Given the description of an element on the screen output the (x, y) to click on. 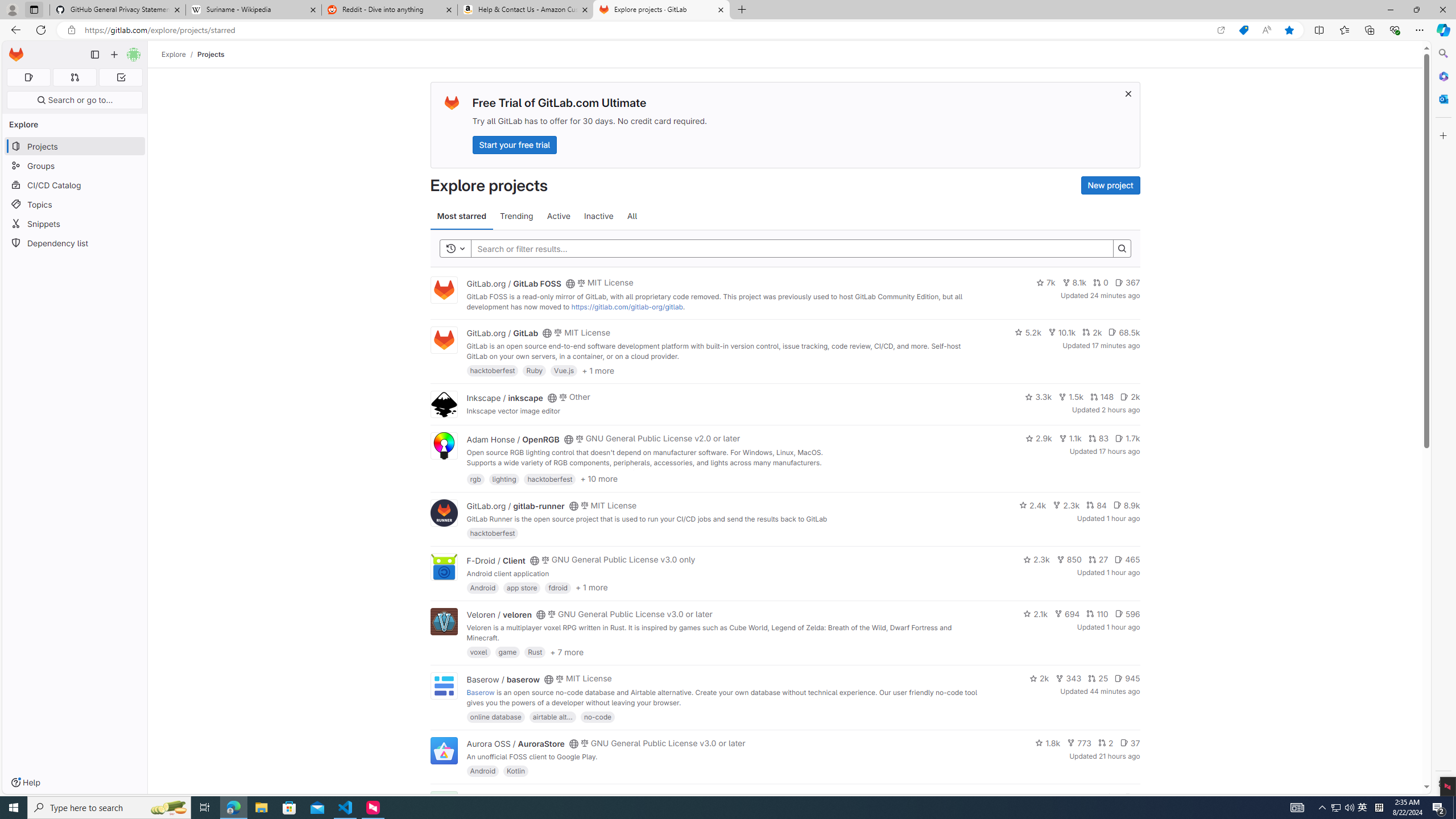
https://gitlab.com/gitlab-org/gitlab (626, 306)
Ruby (533, 370)
Open in app (1220, 29)
1 (1111, 797)
1.5k (1070, 396)
Class: s16 (568, 798)
Dependency list (74, 242)
+ 7 more (566, 651)
Active (559, 216)
773 (1079, 742)
Vue.js (563, 370)
